Given the description of an element on the screen output the (x, y) to click on. 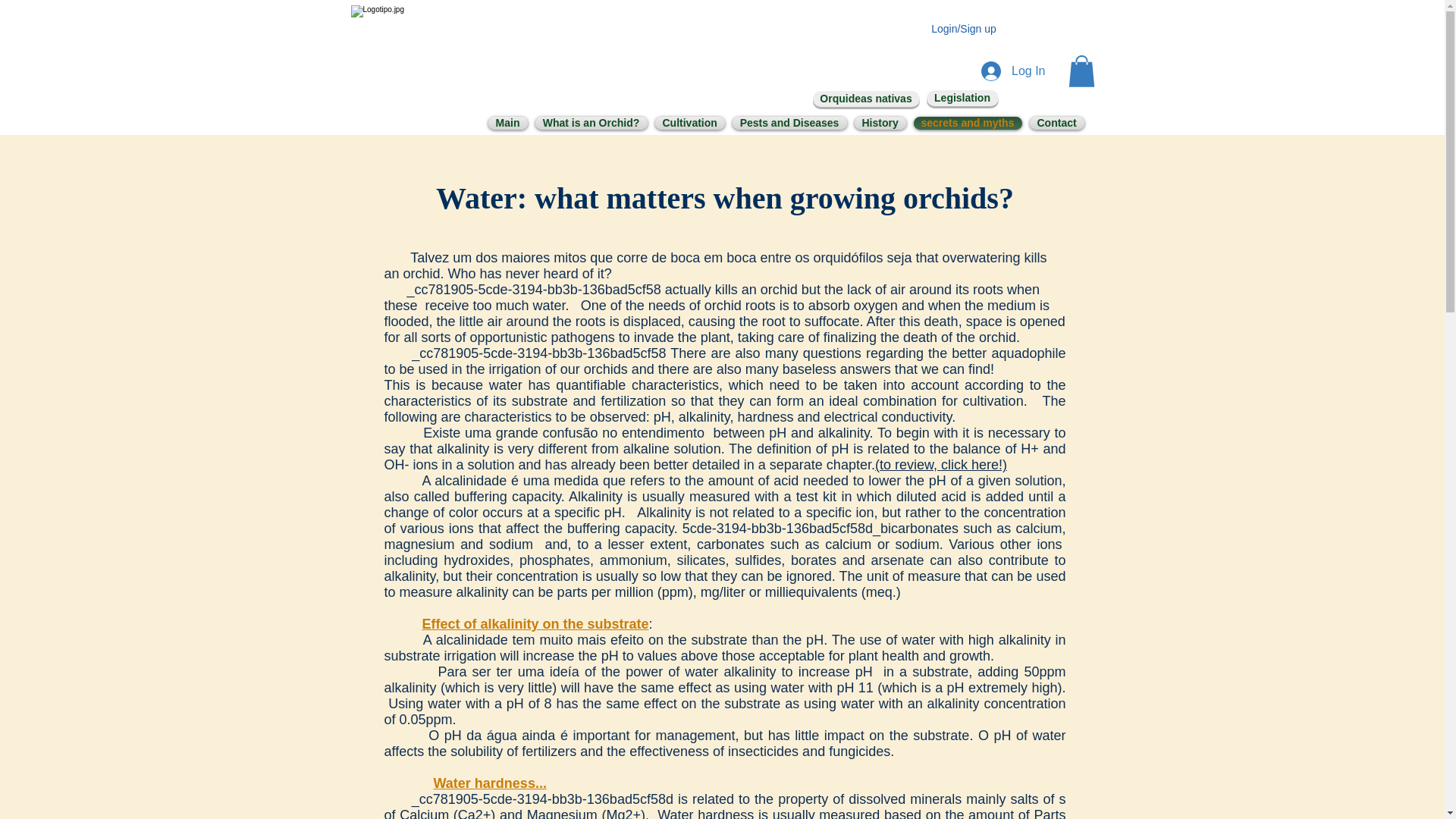
Legislation (962, 98)
Log In (1013, 70)
secrets and myths (968, 123)
History (880, 123)
Cultivation (689, 123)
Pests and Diseases (789, 123)
What is an Orchid? (590, 123)
Main (507, 123)
